Given the description of an element on the screen output the (x, y) to click on. 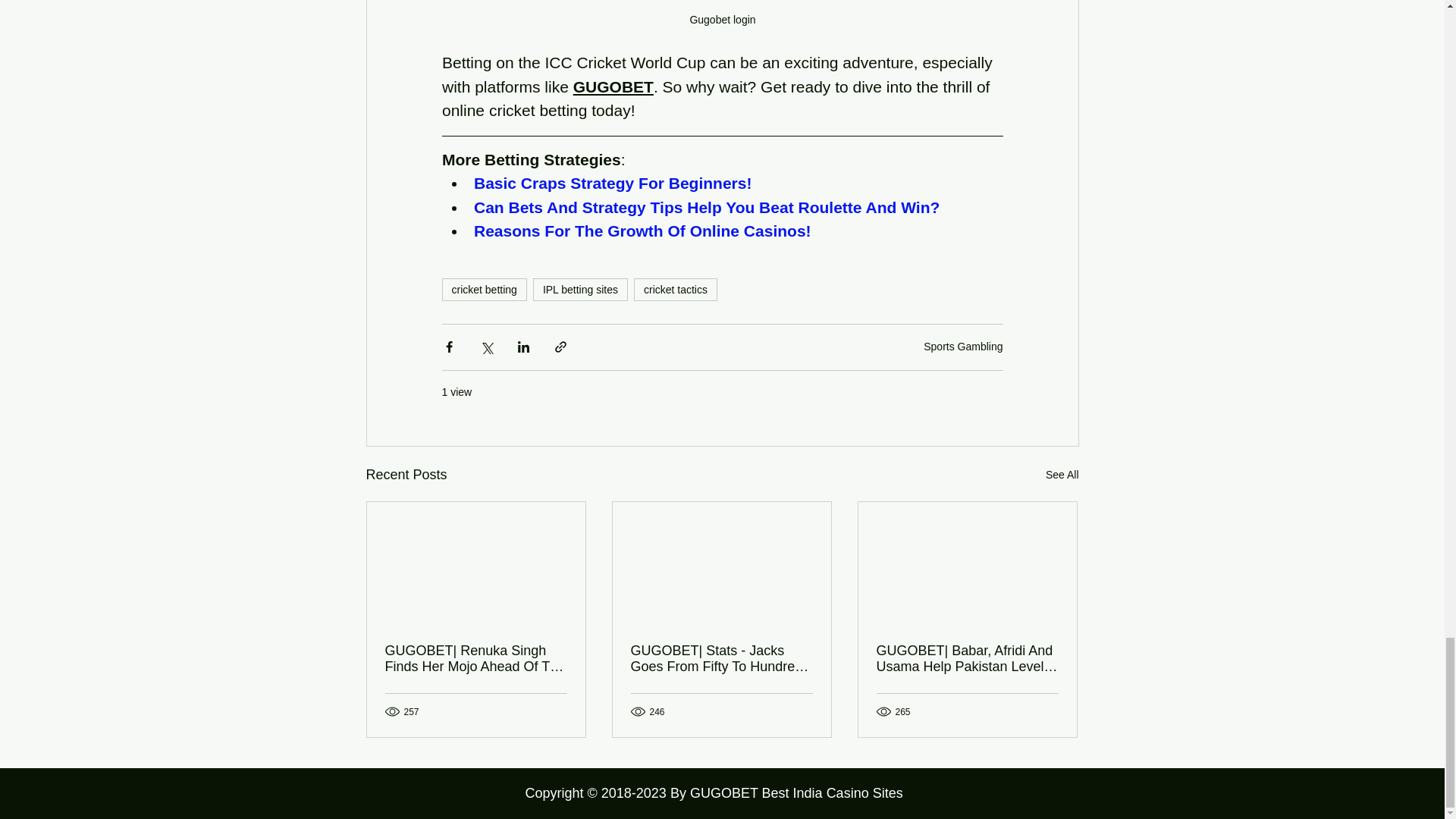
cricket tactics (675, 289)
Reasons For The Growth Of Online Casinos! (641, 230)
IPL betting sites (579, 289)
Gugobet login (722, 20)
GUGOBET (612, 86)
Can Bets And Strategy Tips Help You Beat Roulette And Win? (706, 207)
cricket betting (483, 289)
See All (1061, 475)
Sports Gambling (963, 346)
Basic Craps Strategy For Beginners! (612, 182)
